Given the description of an element on the screen output the (x, y) to click on. 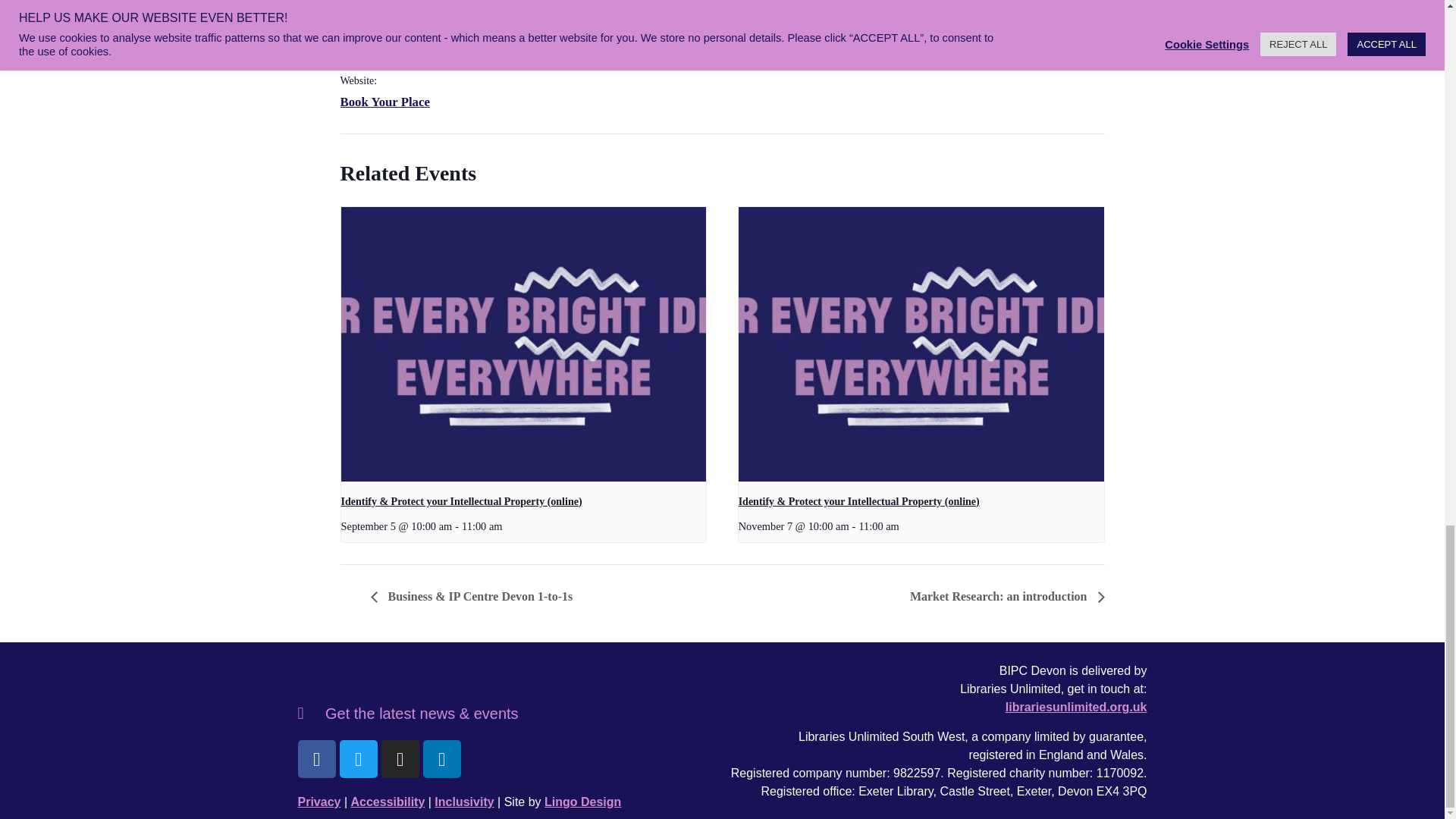
2021-08-24 (403, 6)
